Given the description of an element on the screen output the (x, y) to click on. 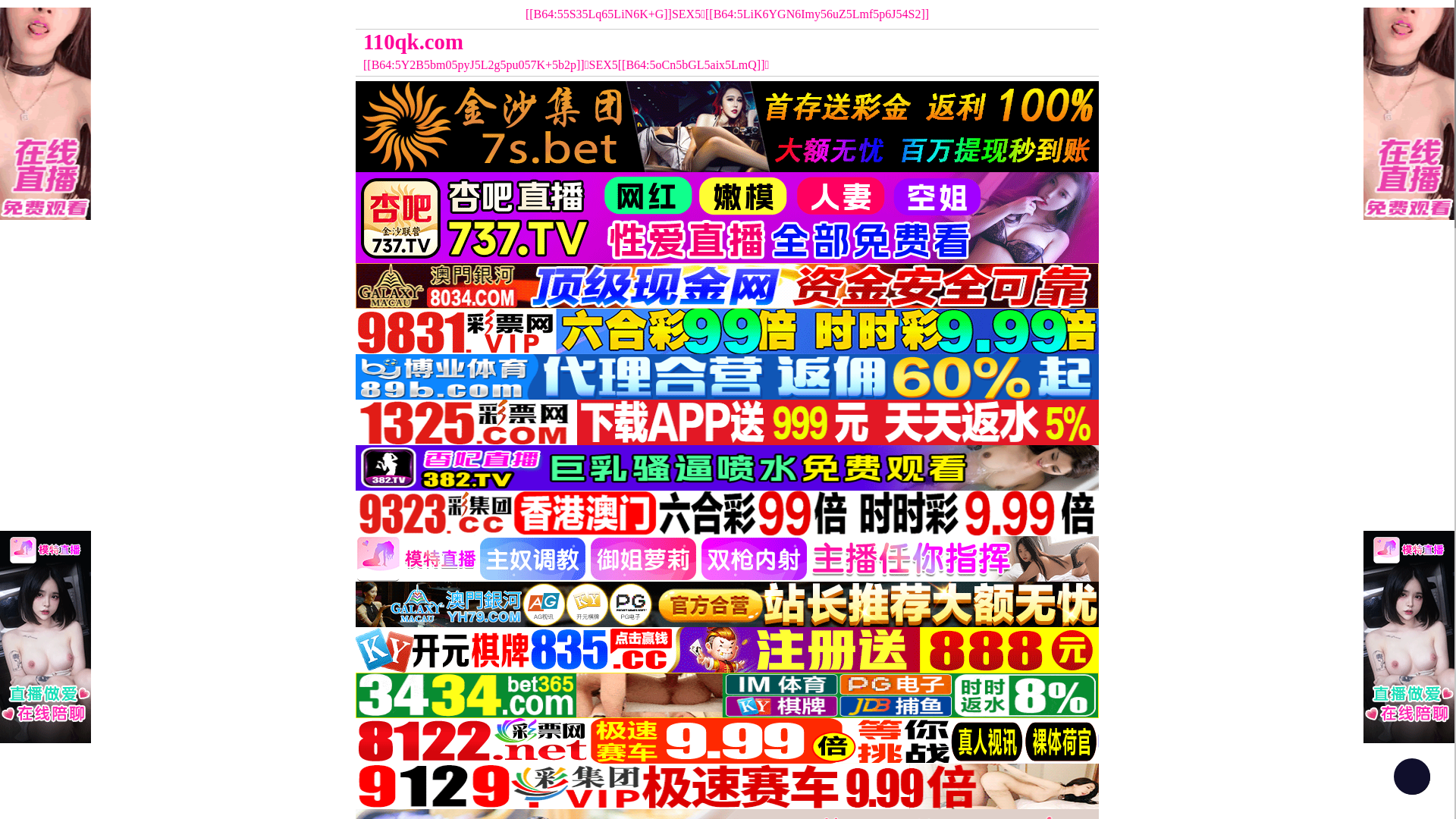
110qk.com Element type: text (634, 41)
